Given the description of an element on the screen output the (x, y) to click on. 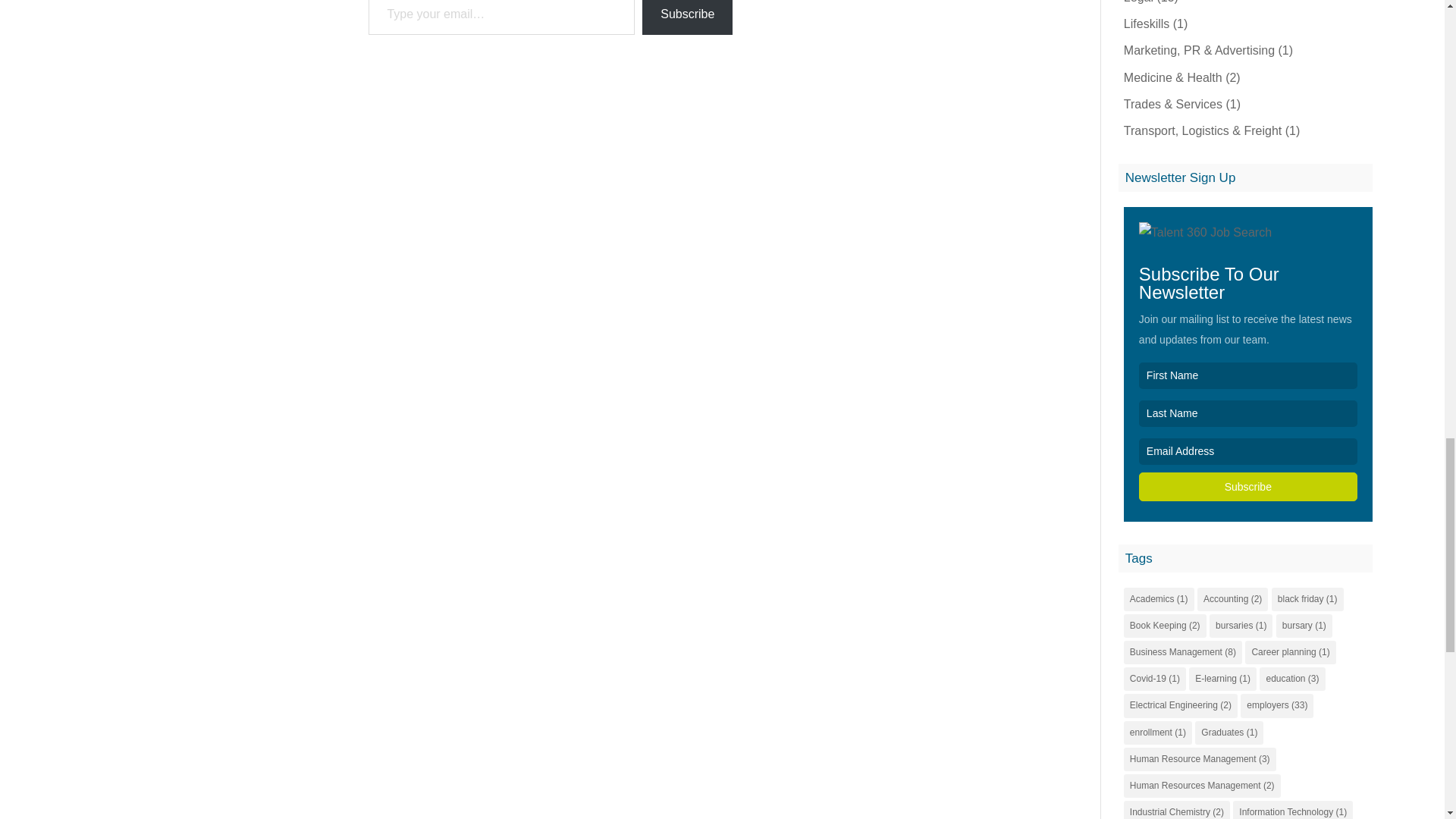
Please fill in this field. (501, 17)
